Given the description of an element on the screen output the (x, y) to click on. 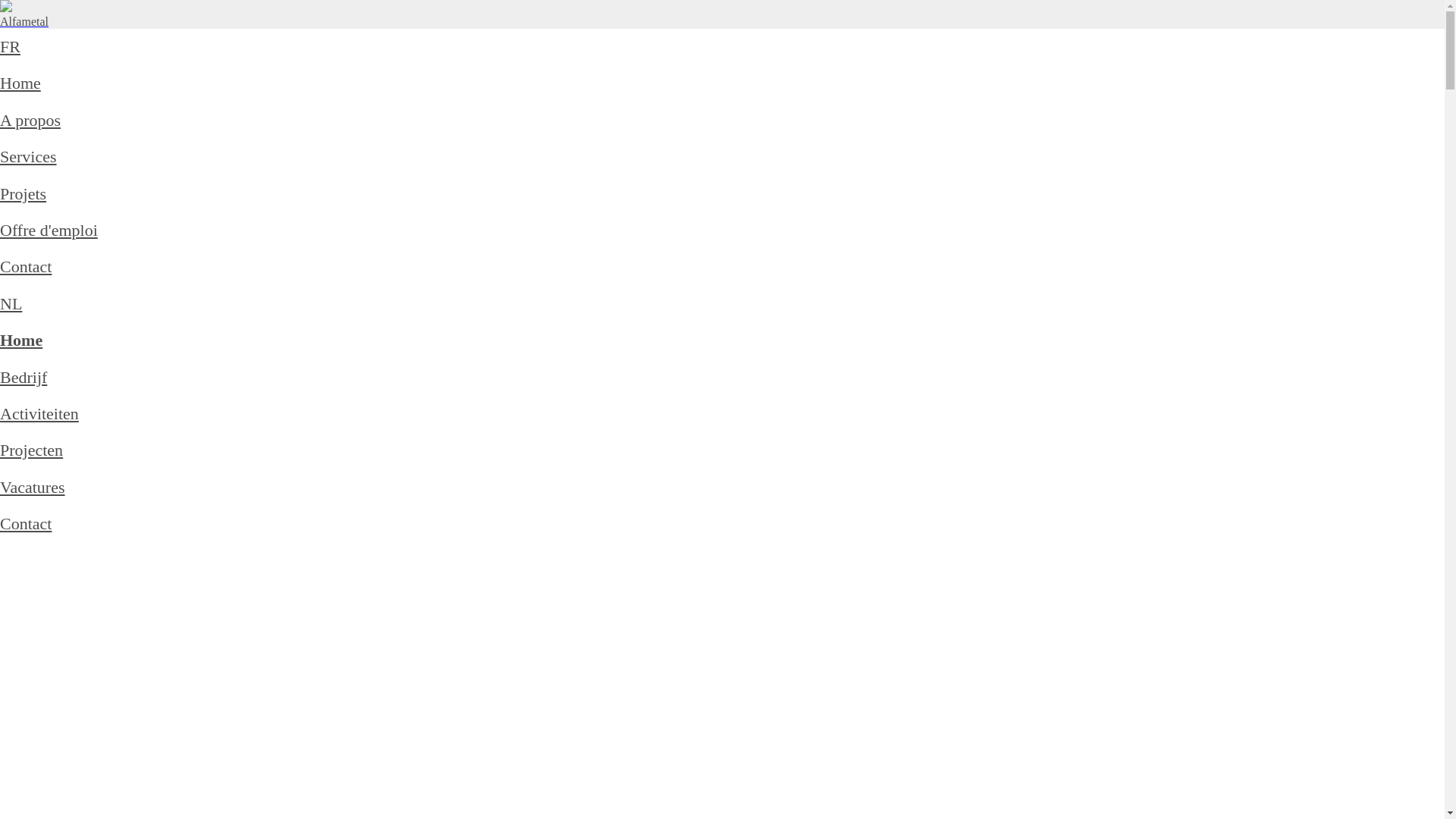
Offre d'emploi Element type: text (48, 229)
A propos Element type: text (30, 119)
NL Element type: text (10, 303)
FR Element type: text (10, 46)
Home Element type: text (20, 82)
Vacatures Element type: text (32, 486)
Projecten Element type: text (31, 449)
Bedrijf Element type: text (23, 376)
Alfametal Element type: text (24, 21)
Projets Element type: text (23, 193)
Home Element type: text (21, 339)
Services Element type: text (28, 156)
Activiteiten Element type: text (39, 413)
Contact Element type: text (25, 266)
Contact Element type: text (25, 523)
